Given the description of an element on the screen output the (x, y) to click on. 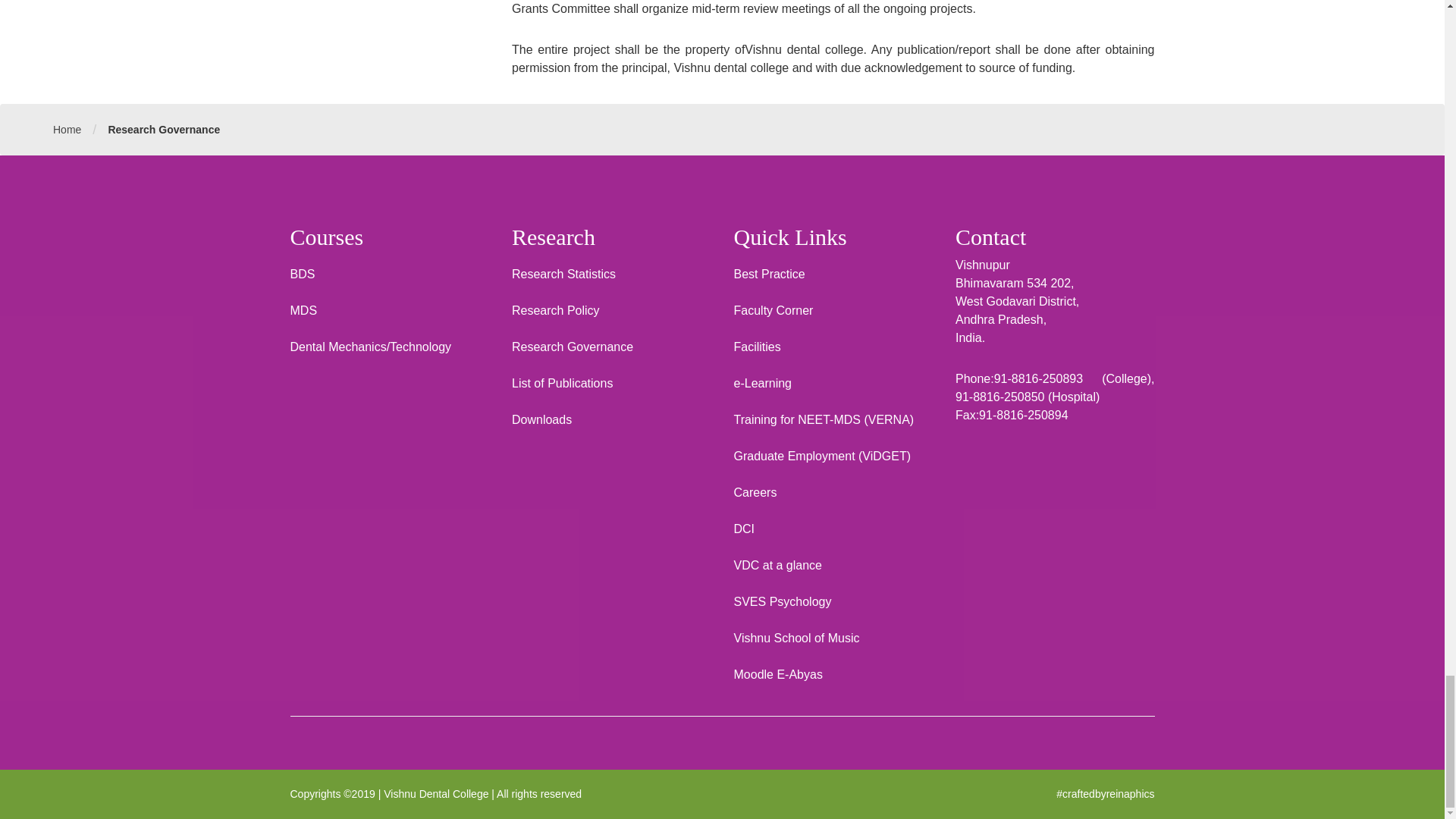
Home (66, 129)
